Given the description of an element on the screen output the (x, y) to click on. 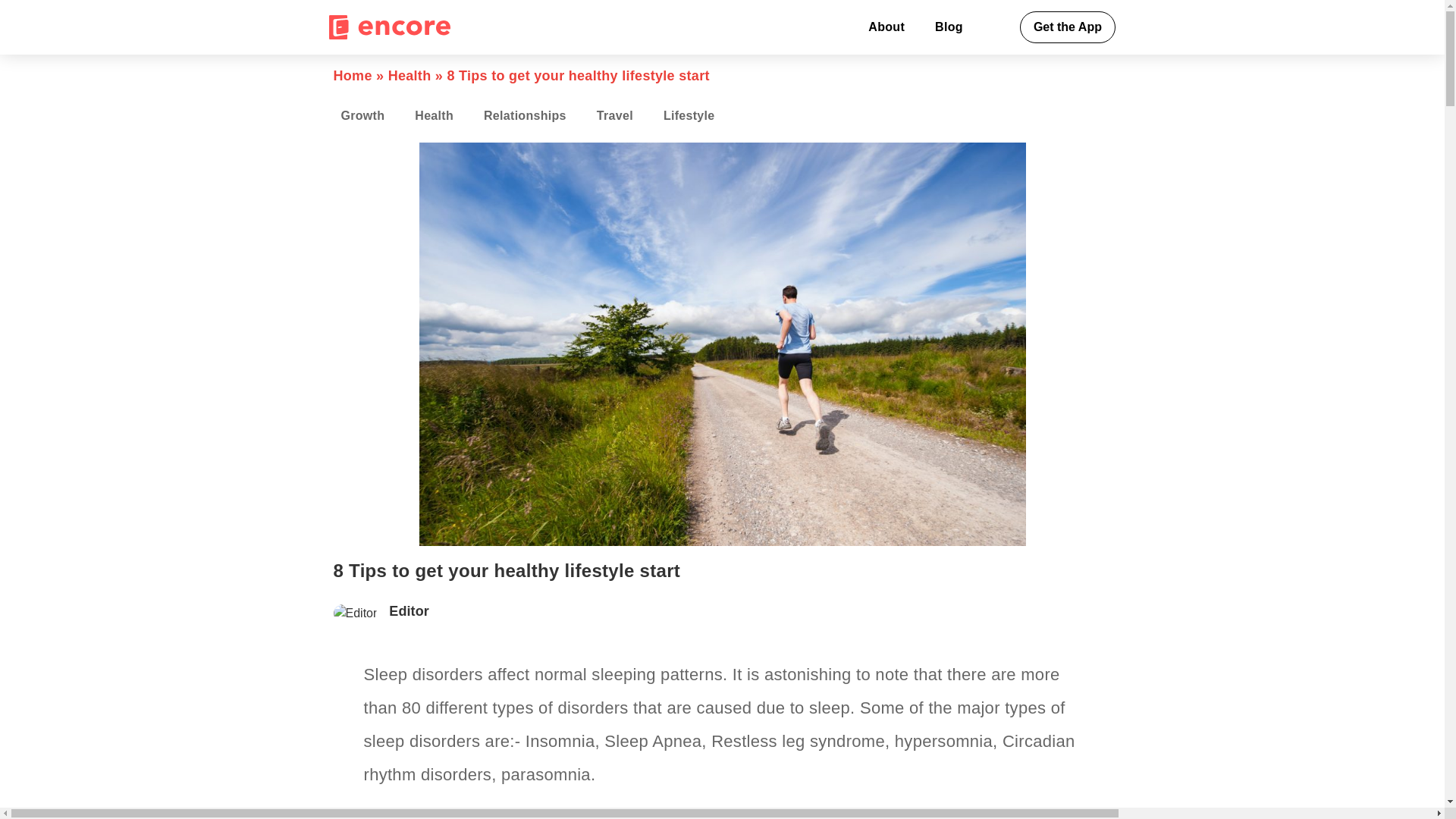
Travel (613, 116)
Relationships (524, 116)
Health (409, 75)
Health (433, 116)
Blog (949, 27)
Lifestyle (688, 116)
Home (352, 75)
Get the App (1068, 27)
About (886, 27)
Growth (363, 116)
